Given the description of an element on the screen output the (x, y) to click on. 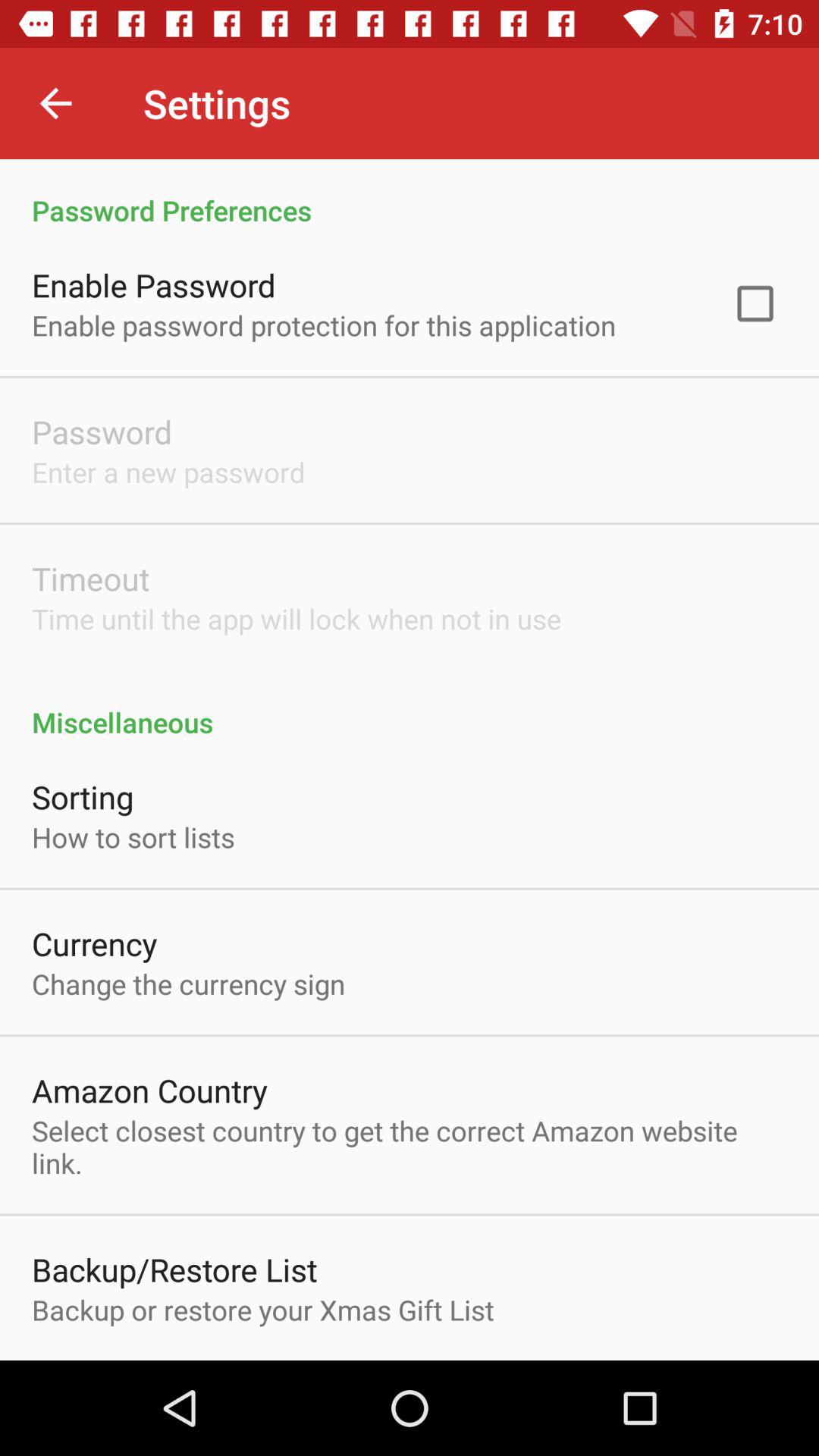
press the password preferences icon (409, 194)
